Given the description of an element on the screen output the (x, y) to click on. 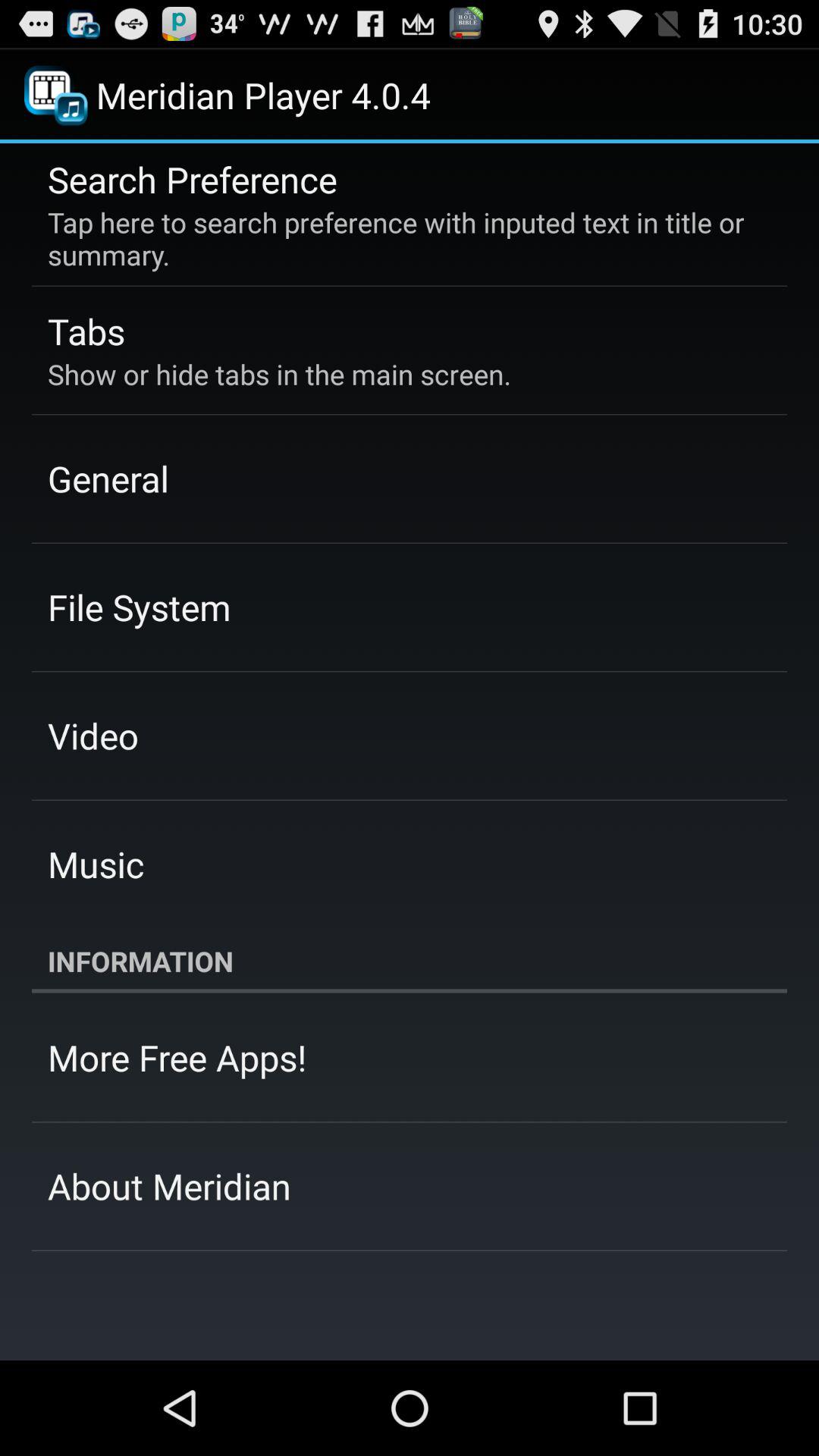
click icon above music item (92, 735)
